Given the description of an element on the screen output the (x, y) to click on. 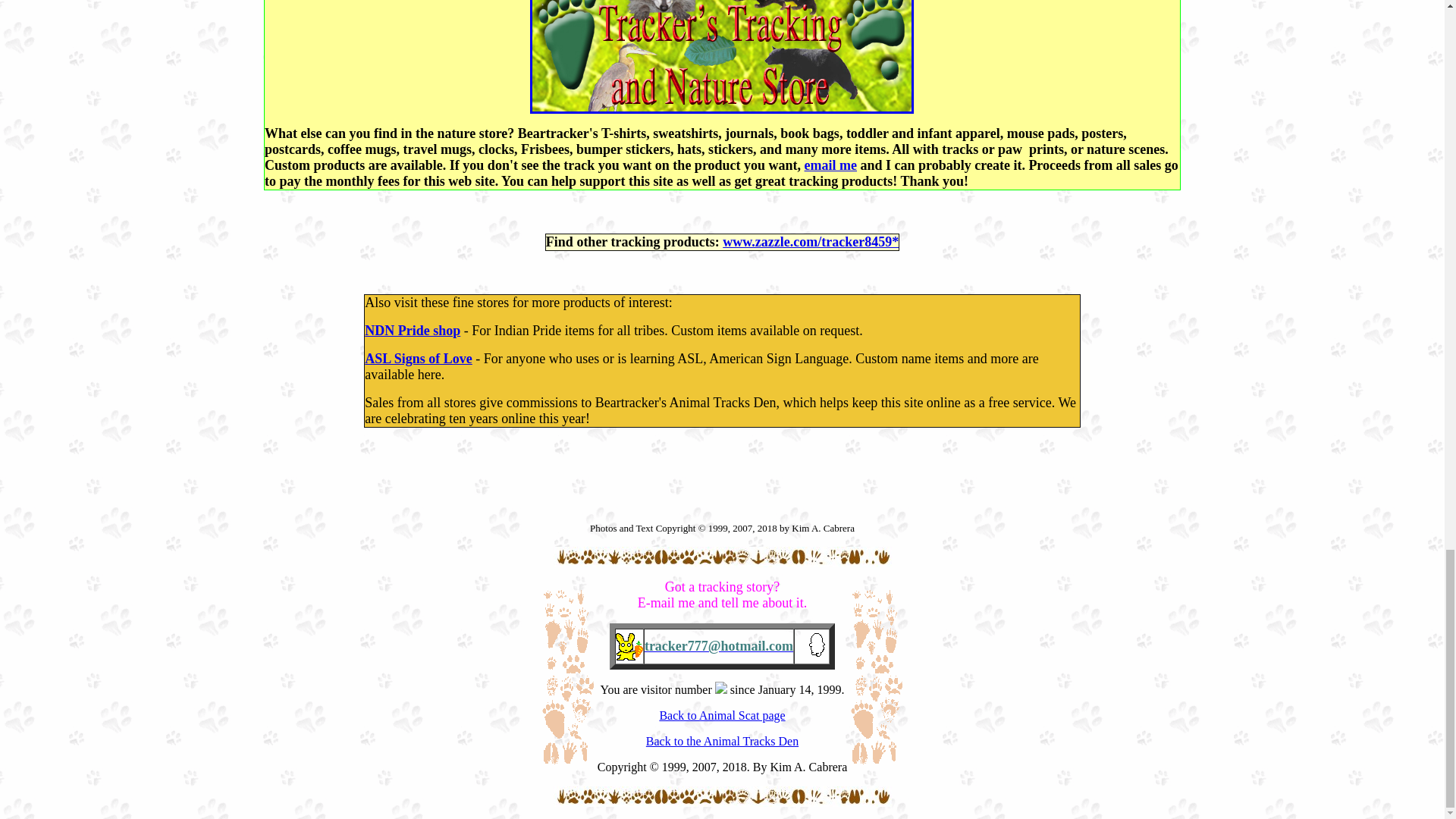
Back to Animal Scat page (721, 715)
email me (831, 165)
Back to the Animal Tracks Den (721, 740)
NDN Pride shop (412, 330)
ASL Signs of Love (418, 358)
